Given the description of an element on the screen output the (x, y) to click on. 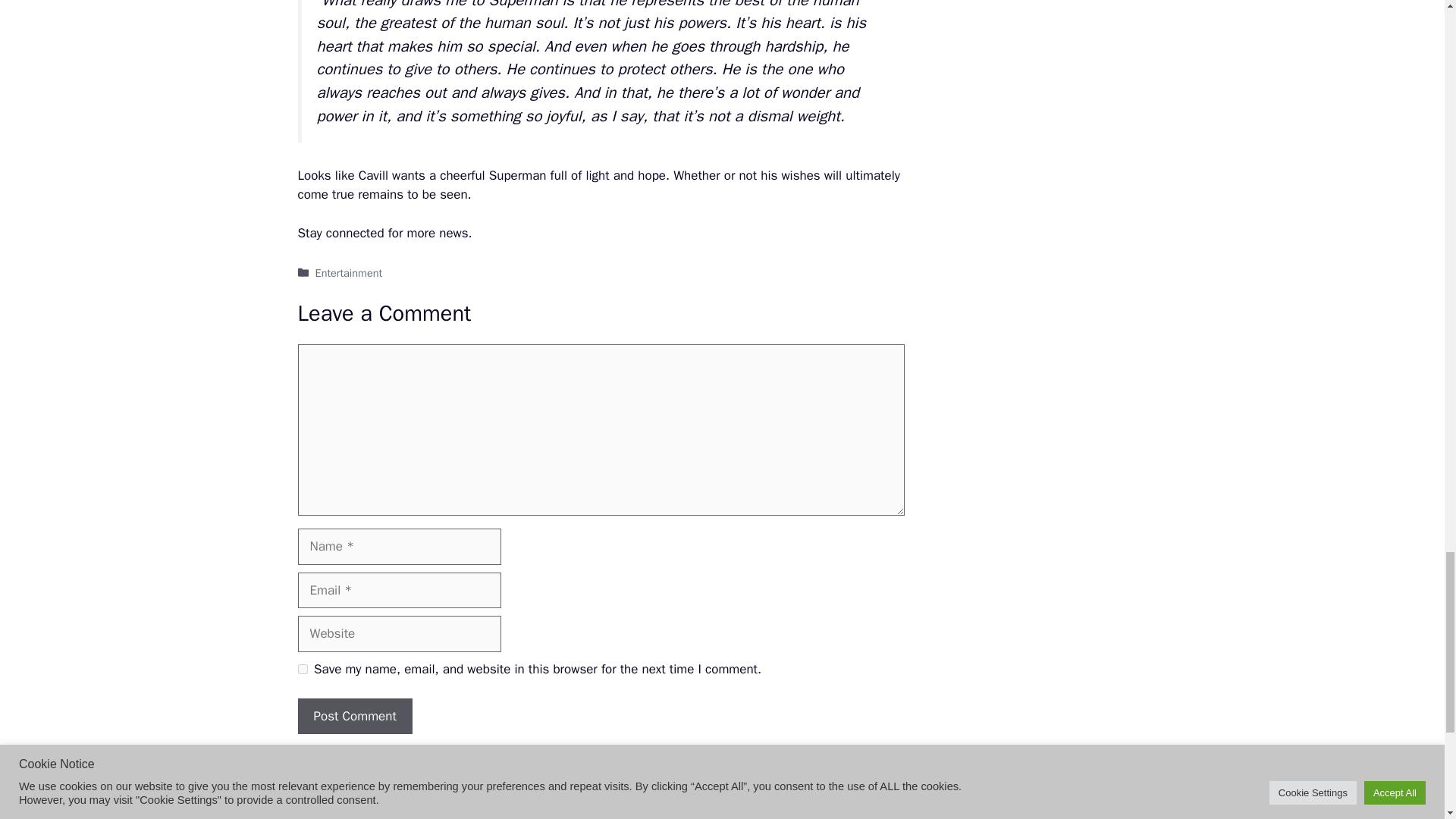
Post Comment (354, 716)
Post Comment (354, 716)
Entertainment (348, 273)
yes (302, 669)
